Given the description of an element on the screen output the (x, y) to click on. 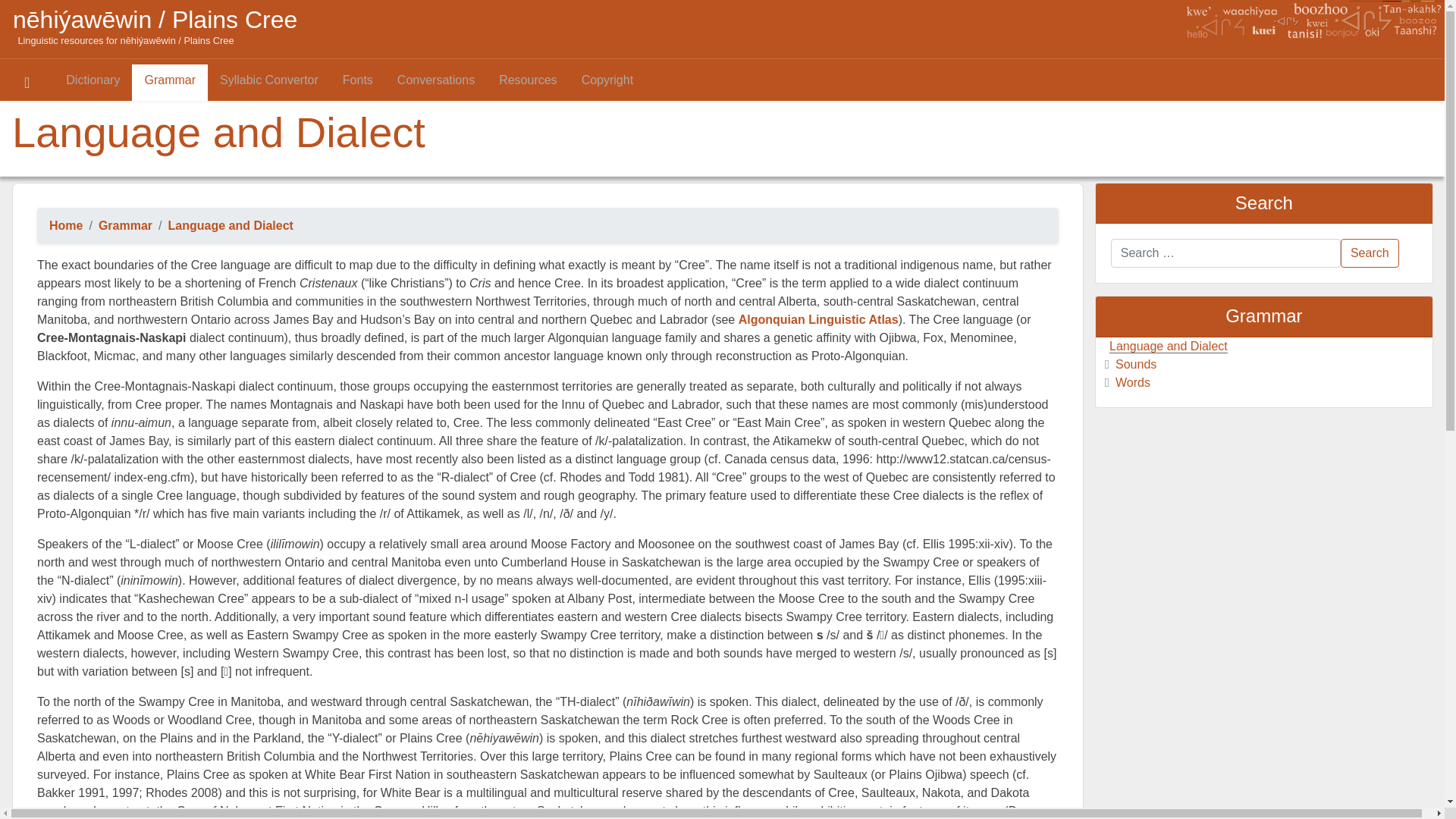
Dictionary Element type: text (92, 82)
Sounds Element type: text (1135, 363)
Syllabic Convertor Element type: text (268, 82)
Home Element type: text (65, 225)
Fonts Element type: text (357, 82)
Language and Dialect Element type: text (230, 225)
Copyright Element type: text (607, 82)
Conversations Element type: text (435, 82)
Resources Element type: text (527, 82)
Words Element type: text (1132, 382)
Algonquian Linguistic Atlas Element type: text (818, 319)
Search Element type: text (1369, 252)
Grammar Element type: text (169, 82)
Grammar Element type: text (125, 225)
Language and Dialect Element type: text (1168, 346)
